Given the description of an element on the screen output the (x, y) to click on. 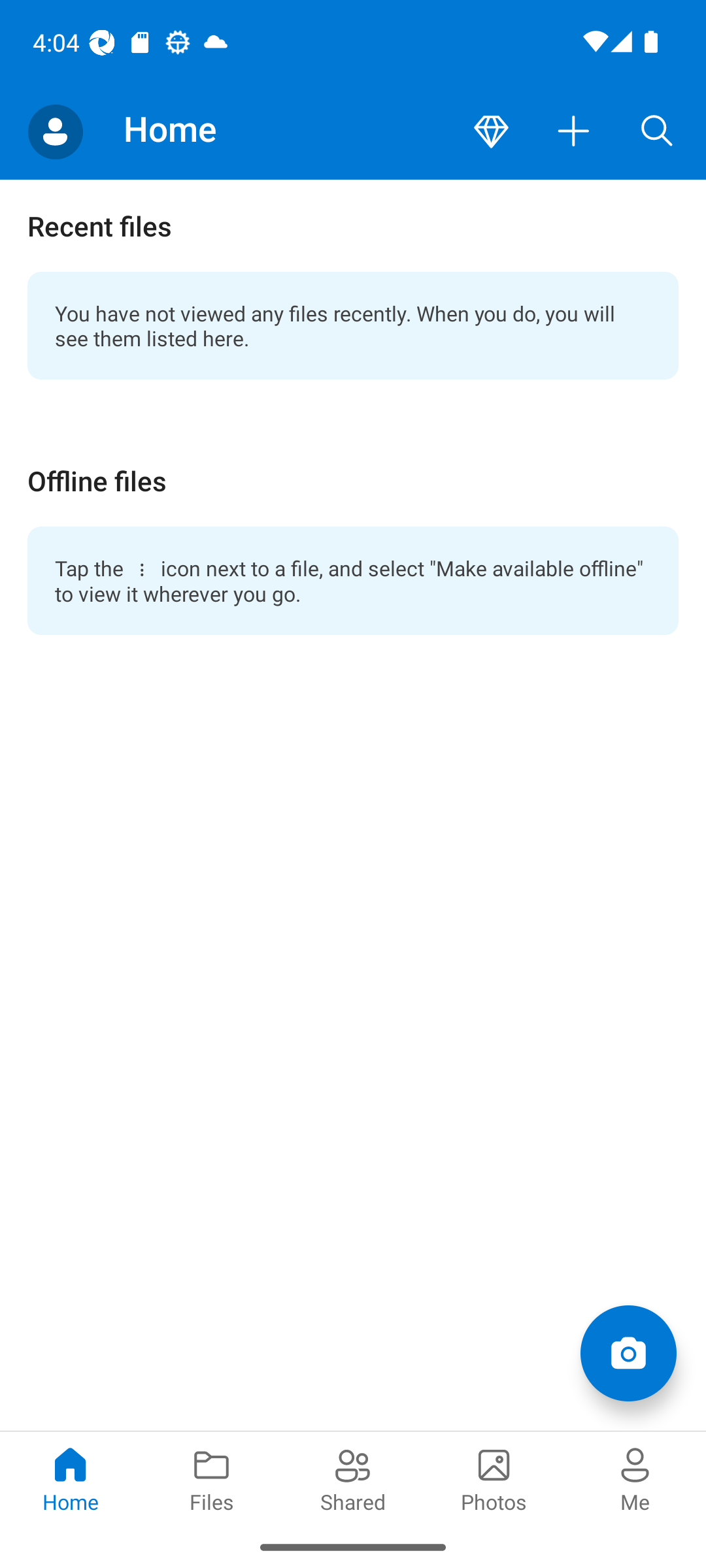
Account switcher (55, 131)
Premium button (491, 131)
More actions button (574, 131)
Search button (656, 131)
Scan (628, 1352)
Files pivot Files (211, 1478)
Shared pivot Shared (352, 1478)
Photos pivot Photos (493, 1478)
Me pivot Me (635, 1478)
